Given the description of an element on the screen output the (x, y) to click on. 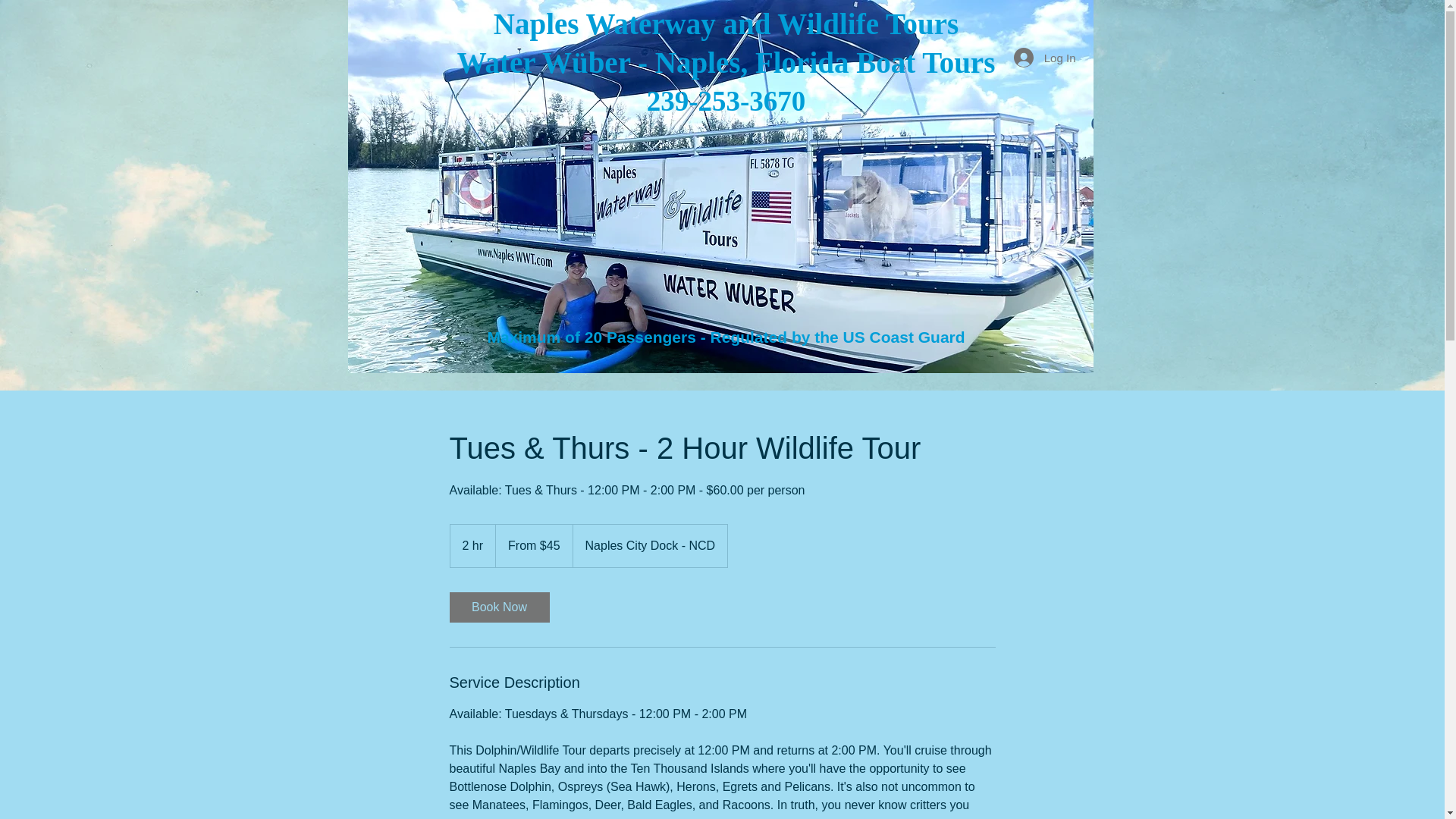
Book Now (498, 607)
Log In (1044, 57)
